Given the description of an element on the screen output the (x, y) to click on. 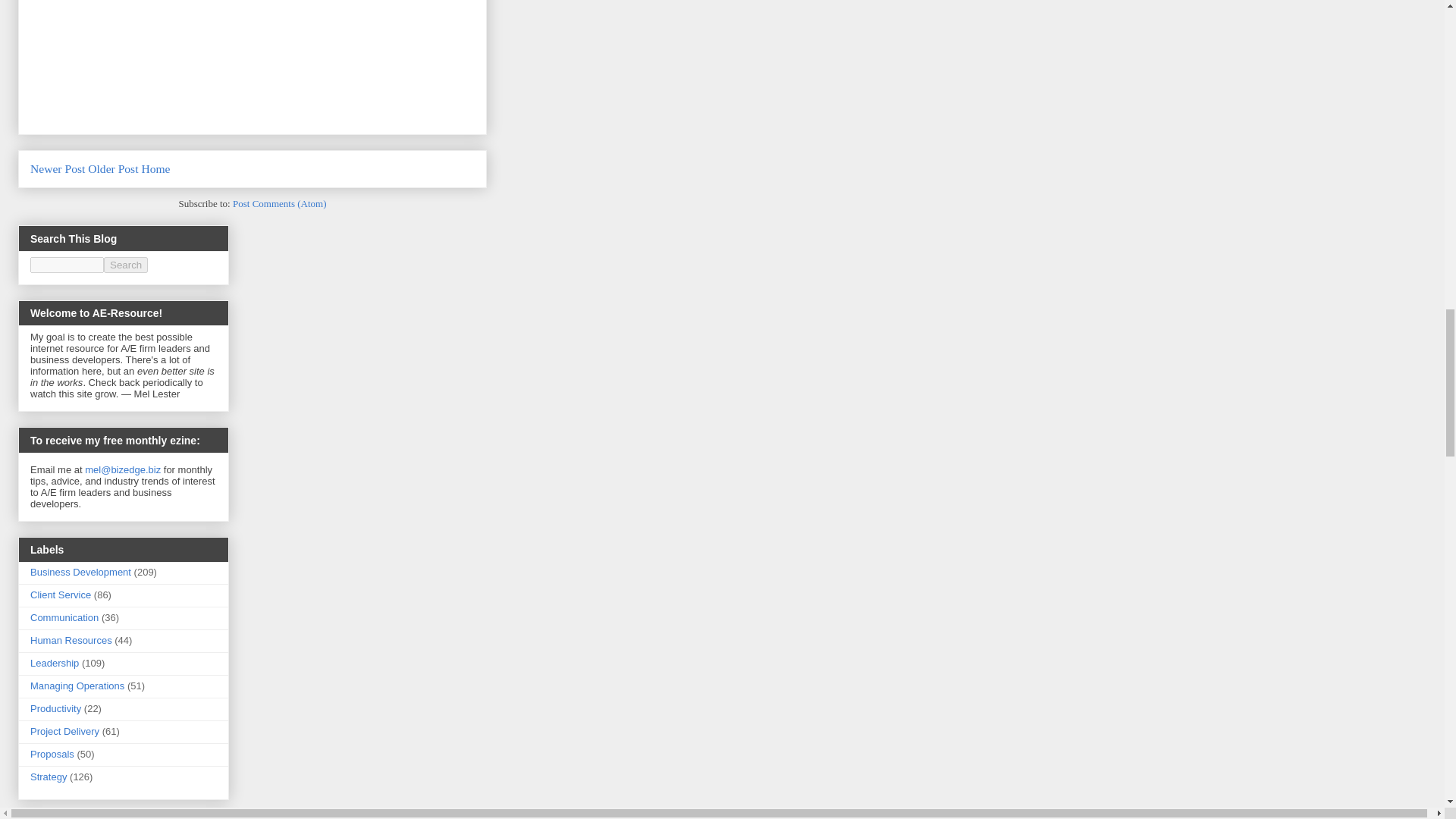
Business Development (80, 572)
Human Resources (71, 640)
Managing Operations (76, 685)
Newer Post (57, 168)
Client Service (60, 594)
Proposals (52, 754)
search (125, 264)
Home (155, 168)
search (66, 264)
Project Delivery (64, 731)
Leadership (54, 663)
Newer Post (57, 168)
Search (125, 264)
Search (125, 264)
Older Post (112, 168)
